Given the description of an element on the screen output the (x, y) to click on. 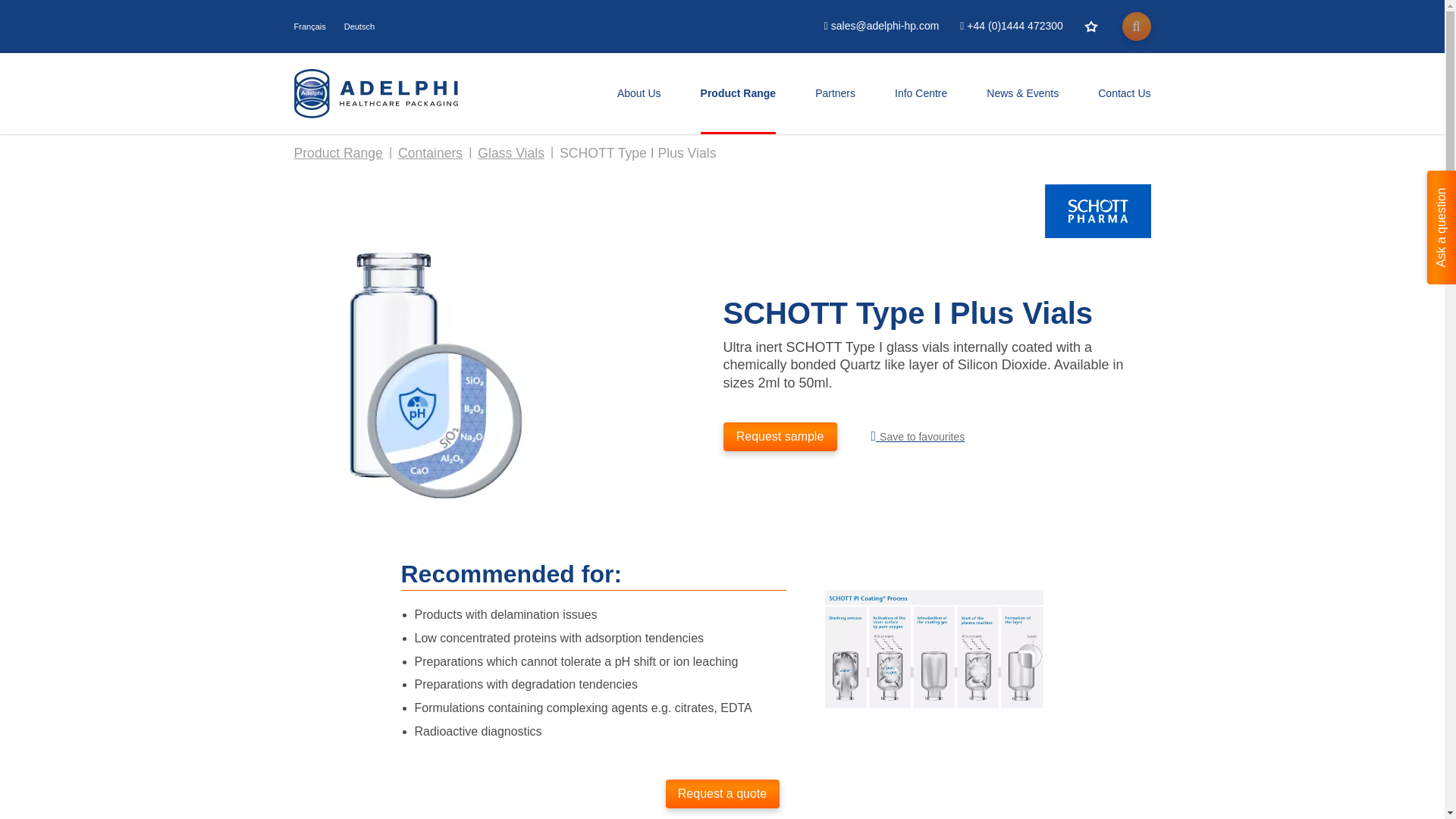
About Us (639, 92)
Partners (835, 92)
Search Adelphi (1136, 26)
Favorites Adelphi (1090, 25)
Contact Adelphi by phone (1010, 25)
Contact Adelphi by email (881, 25)
Product Range (738, 92)
Deutsch (358, 26)
